Given the description of an element on the screen output the (x, y) to click on. 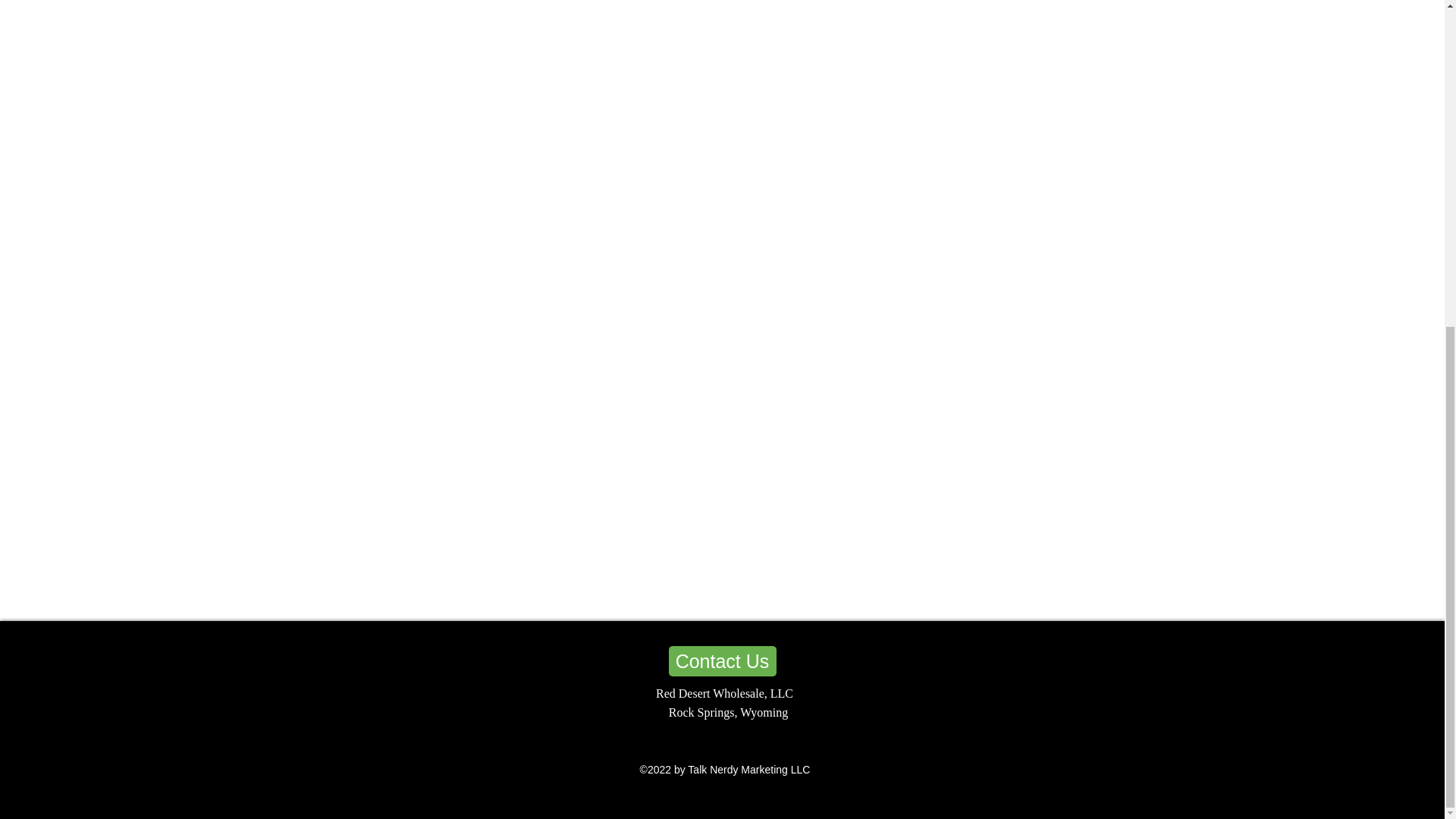
Contact Us (722, 661)
